Given the description of an element on the screen output the (x, y) to click on. 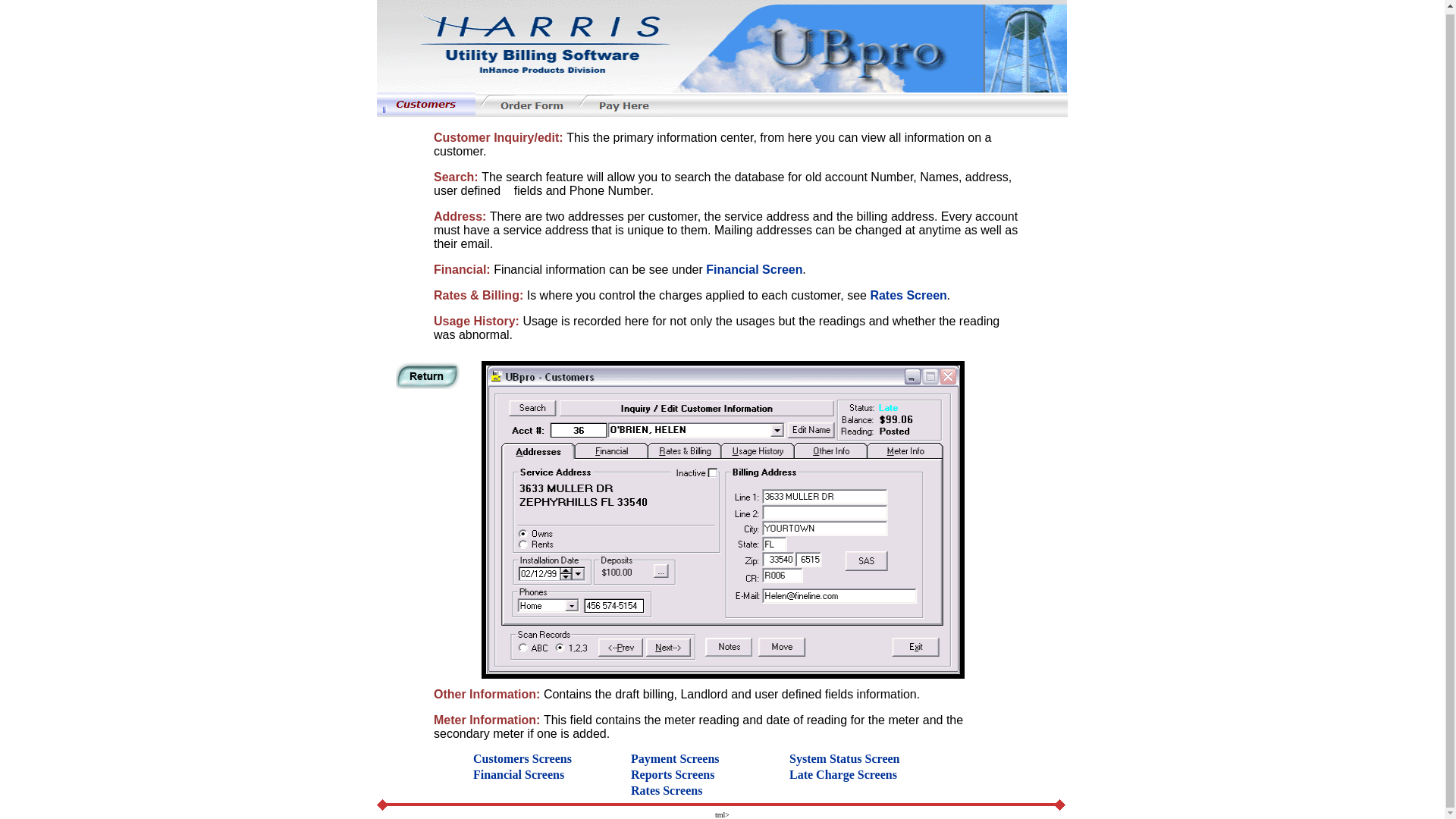
Rates Screens (665, 789)
Order Form (524, 104)
Sales (428, 375)
Customers Screens (522, 758)
Customers Screens (426, 103)
Rates Screen (907, 295)
Financial Screen (754, 269)
eports Screens (677, 774)
Pay Here (622, 104)
